Given the description of an element on the screen output the (x, y) to click on. 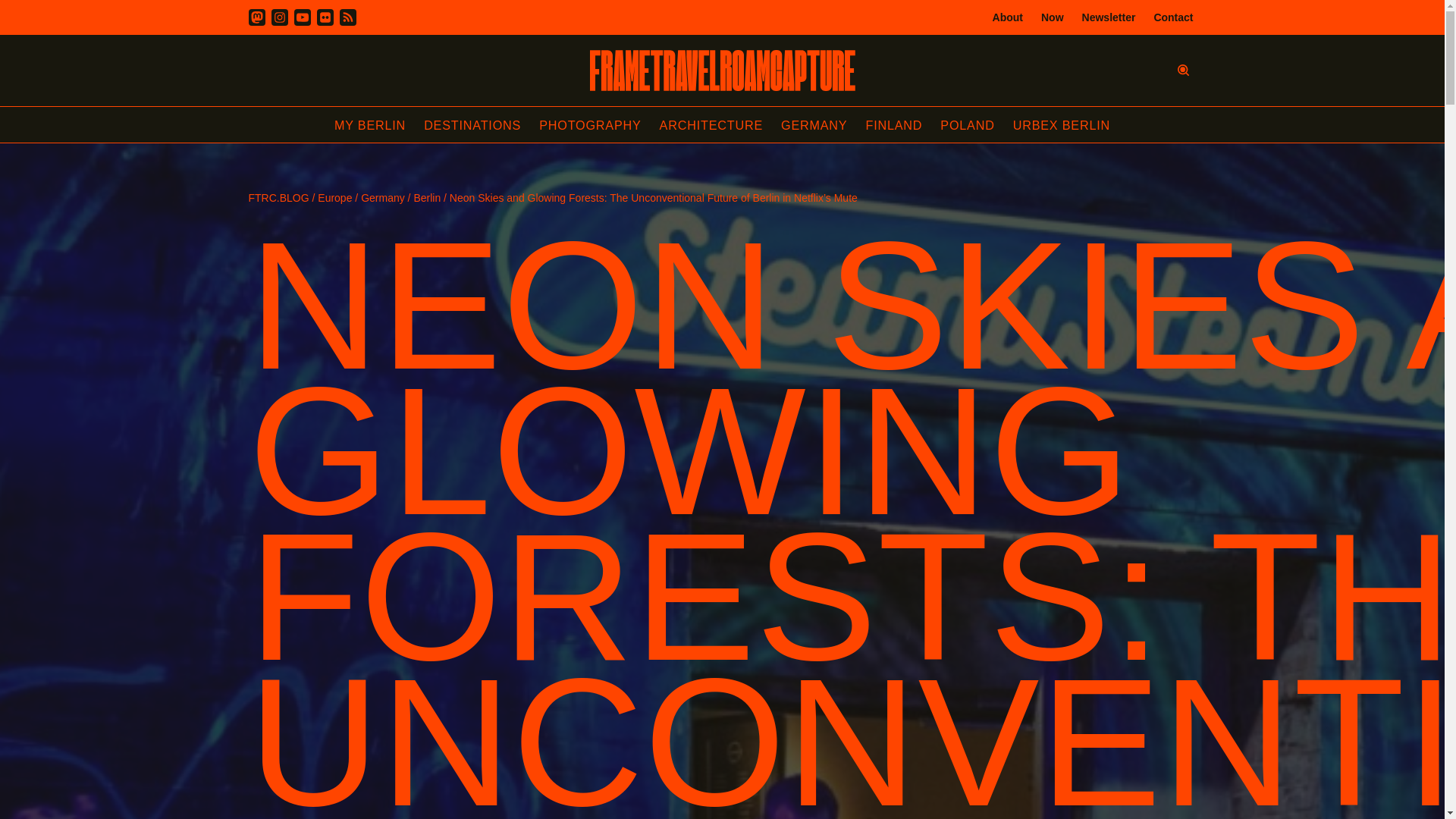
URBEX BERLIN (1061, 125)
About (1007, 16)
: All the places we explored around the German capital (1061, 125)
DESTINATIONS (472, 125)
RSS (347, 17)
Flickr (325, 17)
All about Frame Travel Roam Capture (1007, 16)
GERMANY (813, 125)
PHOTOGRAPHY (589, 125)
Newsletter (1108, 16)
Now (1052, 16)
Youtube (302, 17)
Mastodon (256, 17)
Now (1052, 16)
FINLAND (892, 125)
